Given the description of an element on the screen output the (x, y) to click on. 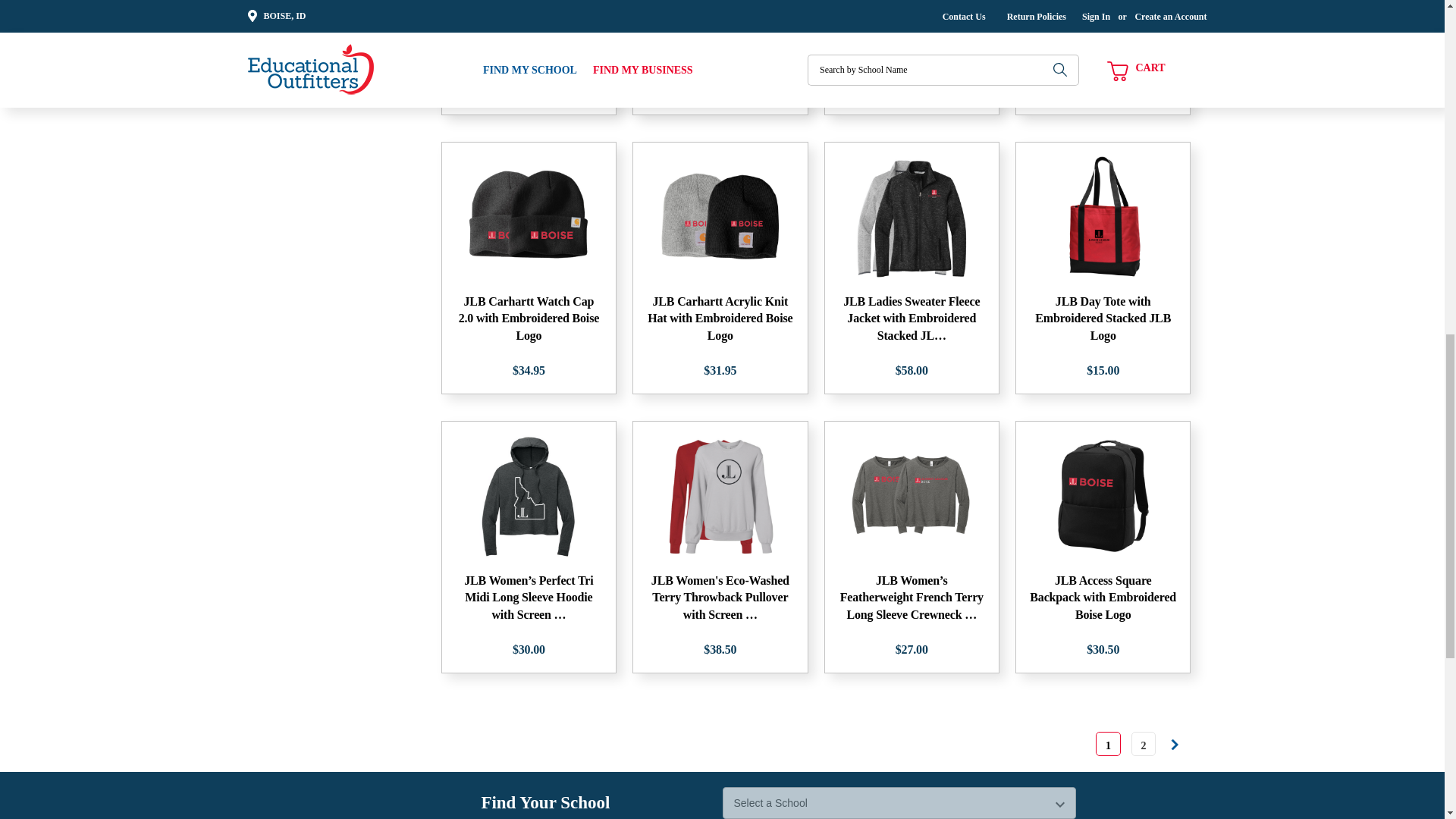
JLB Carhartt Watch Cap 2.0 with Embroidered Boise Logo (528, 217)
